Given the description of an element on the screen output the (x, y) to click on. 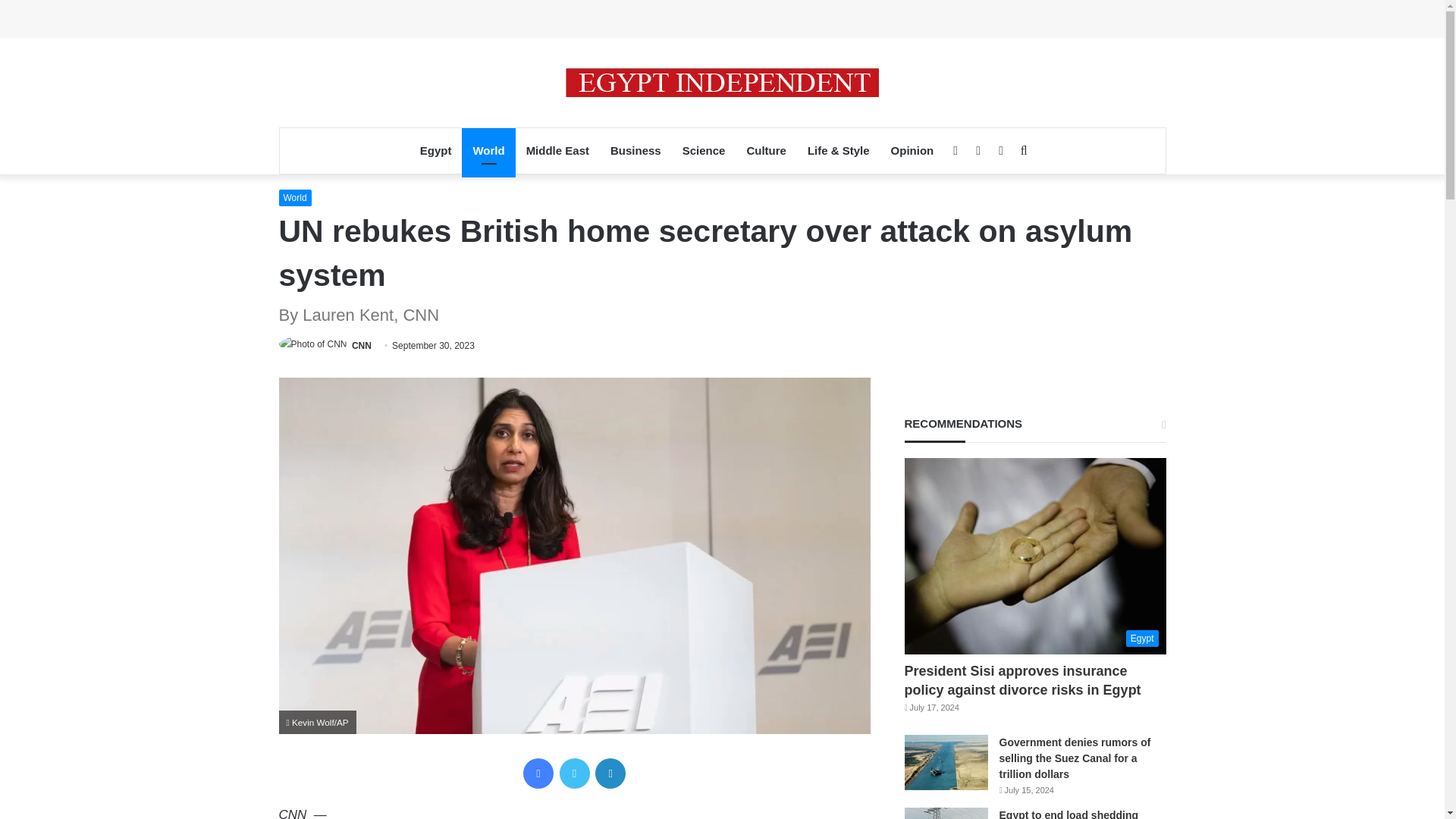
Egypt (436, 150)
World (488, 150)
LinkedIn (610, 773)
Business (635, 150)
Egypt Independent (722, 82)
Science (703, 150)
CNN (361, 345)
CNN (361, 345)
Opinion (912, 150)
Twitter (574, 773)
Facebook (537, 773)
LinkedIn (610, 773)
Middle East (557, 150)
Twitter (574, 773)
Culture (765, 150)
